Given the description of an element on the screen output the (x, y) to click on. 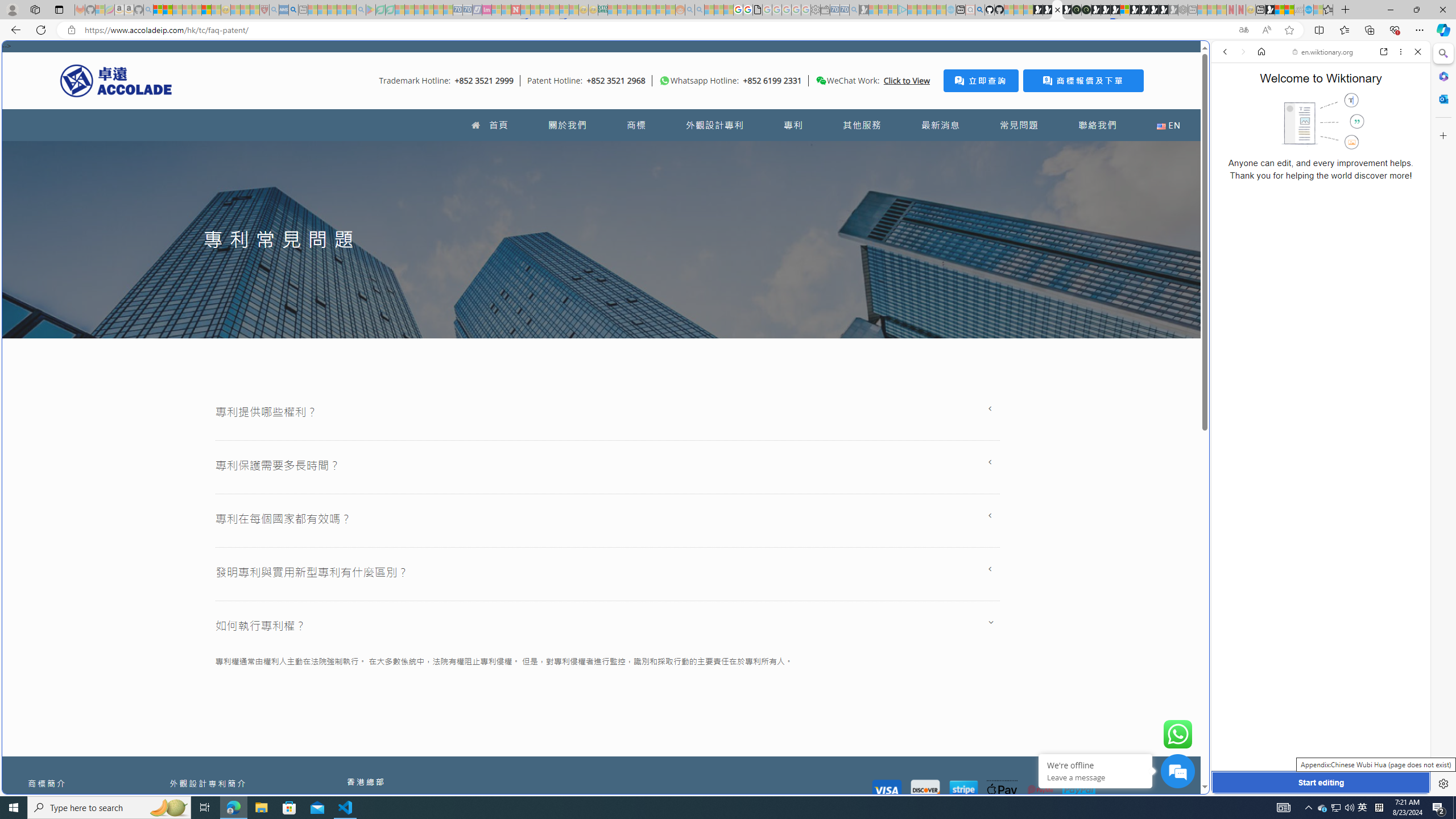
Start editing (1320, 782)
github - Search (979, 9)
